Given the description of an element on the screen output the (x, y) to click on. 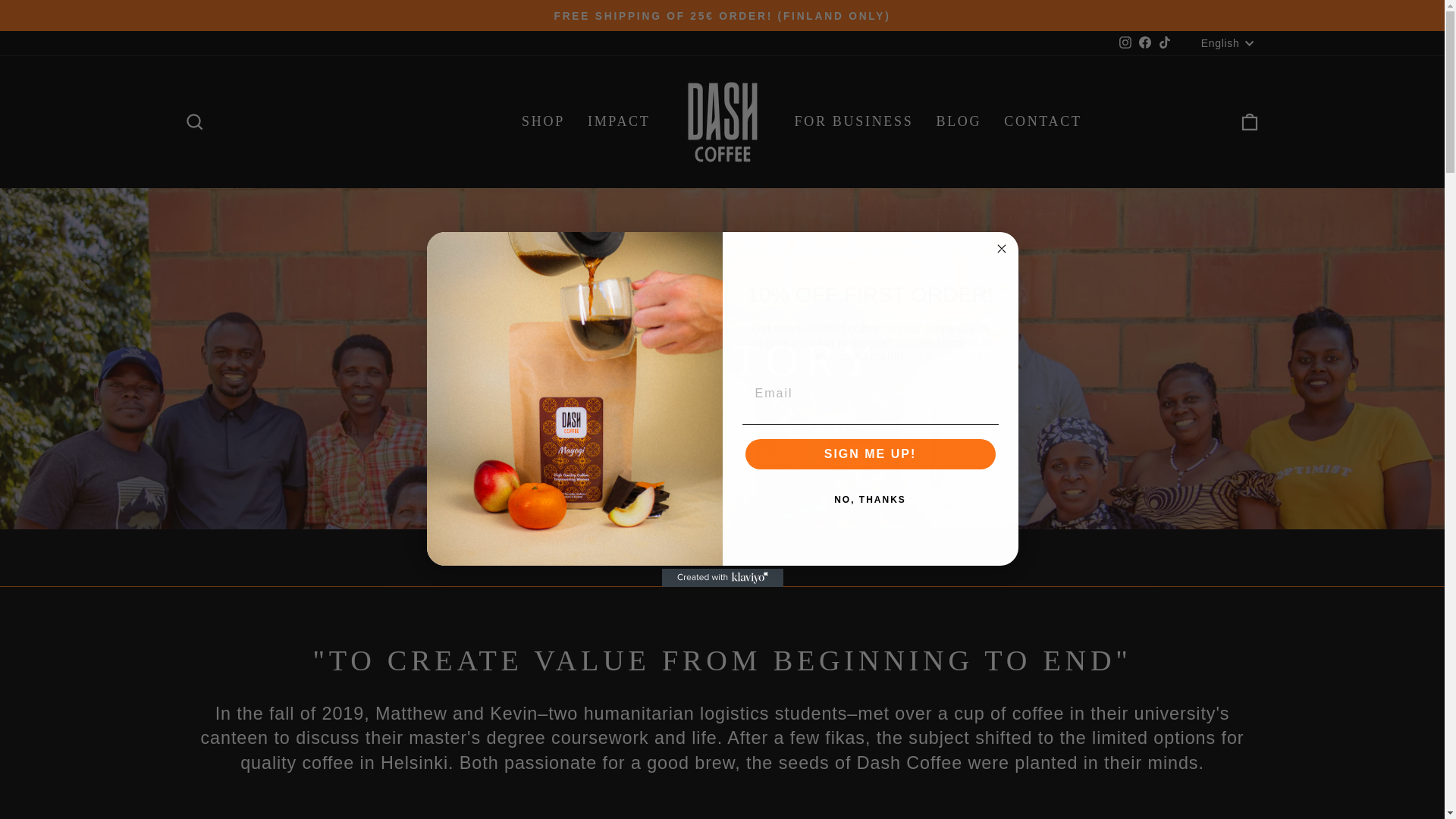
Instagram (1125, 42)
Dash Coffee on TikTok (1164, 42)
TikTok (1164, 42)
Dash Coffee on Instagram (1125, 42)
SEARCH (194, 121)
IMPACT (619, 122)
FOR BUSINESS (853, 122)
Dash Coffee on Facebook (1144, 42)
CART (1249, 121)
English (1228, 42)
SHOP (543, 122)
BLOG (958, 122)
CONTACT (1042, 122)
Facebook (1144, 42)
